Given the description of an element on the screen output the (x, y) to click on. 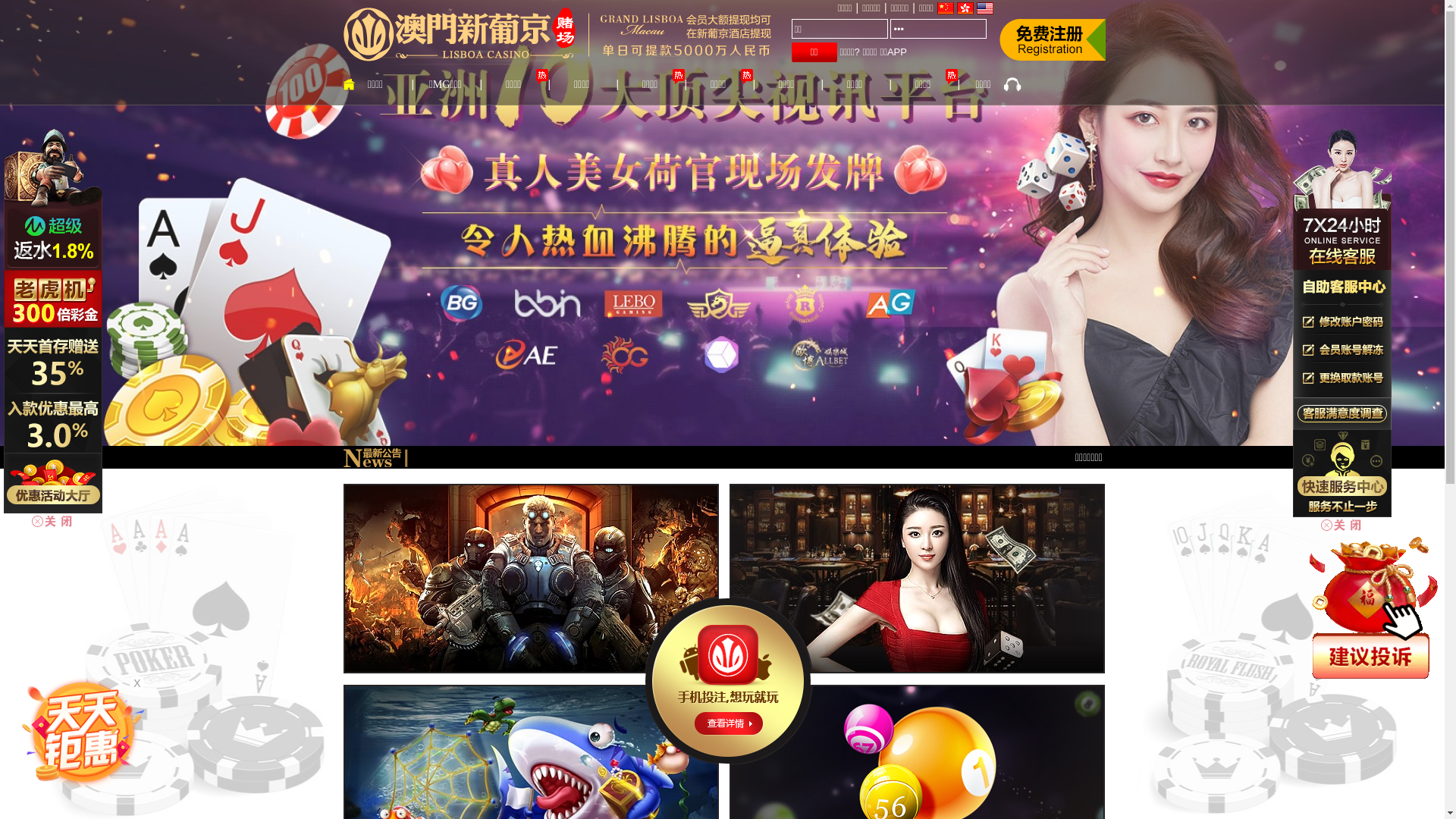
English Element type: hover (984, 8)
